Given the description of an element on the screen output the (x, y) to click on. 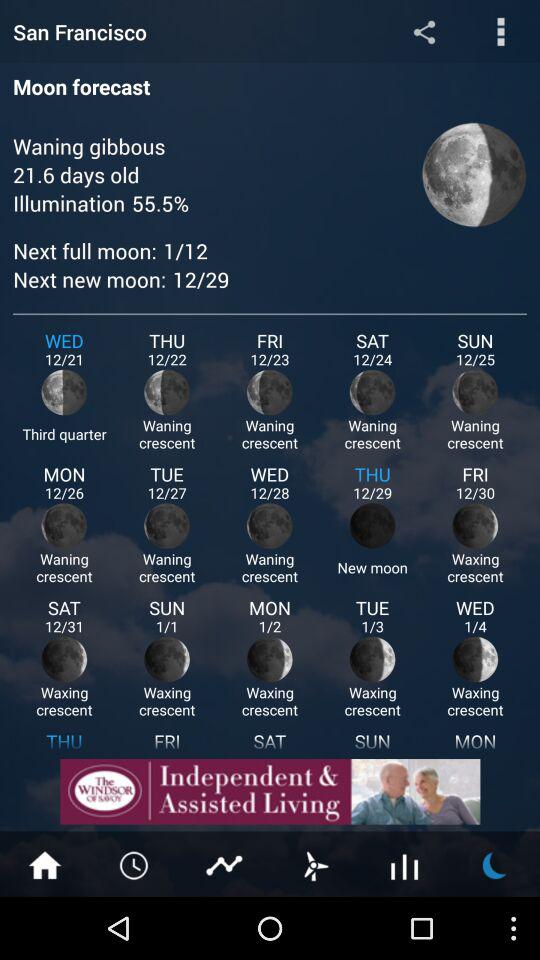
share (424, 31)
